Given the description of an element on the screen output the (x, y) to click on. 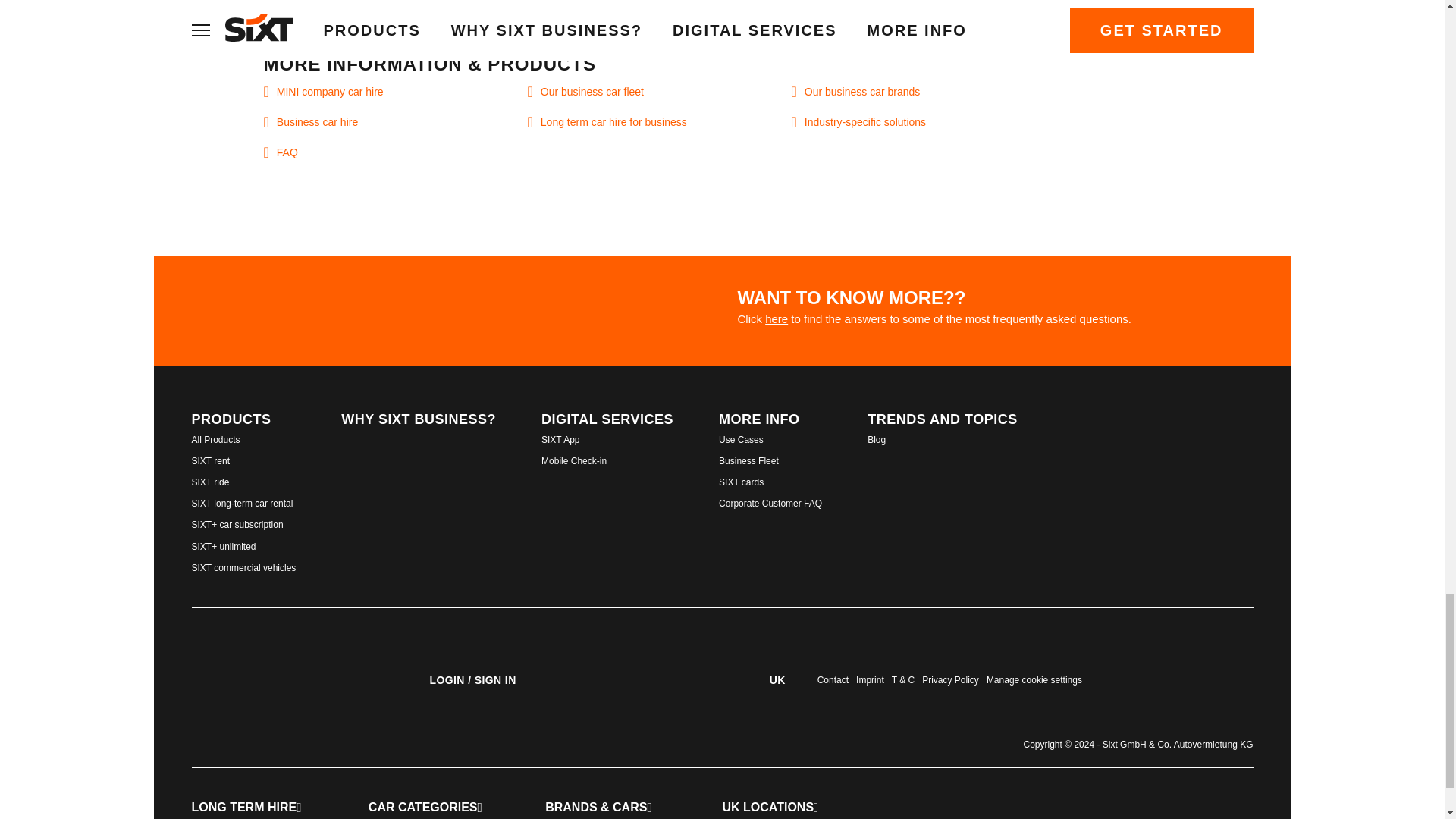
Industry-specific solutions (924, 126)
MINI company car hire (396, 95)
Our business car fleet (660, 95)
Customer Service Any Questions Pre Footer (608, 305)
Our business car brands (924, 95)
Business car hire (396, 126)
Long term car hire for business (660, 126)
FAQ (396, 156)
